Given the description of an element on the screen output the (x, y) to click on. 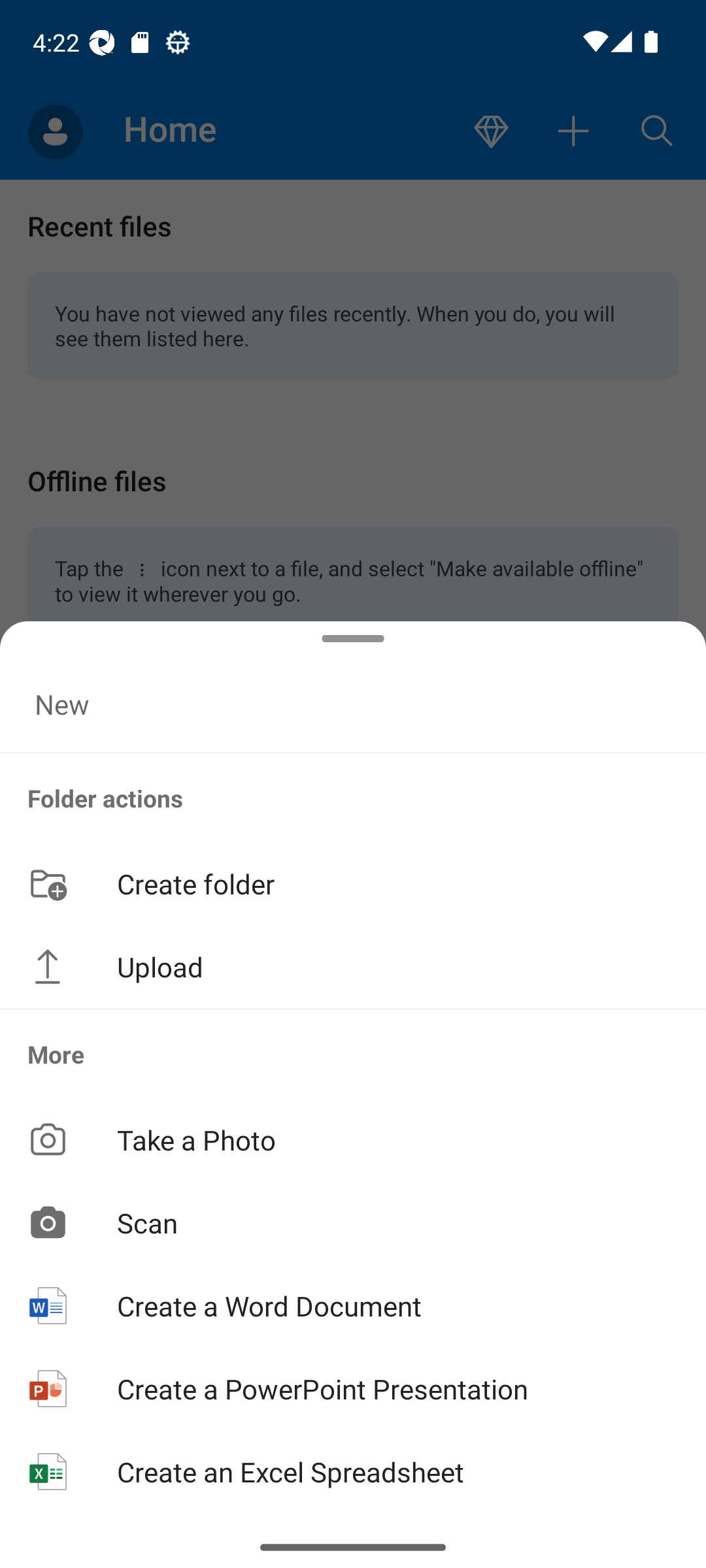
Create folder button Create folder (353, 883)
Upload button Upload (353, 966)
Take a Photo button Take a Photo (353, 1138)
Scan button Scan (353, 1221)
